Given the description of an element on the screen output the (x, y) to click on. 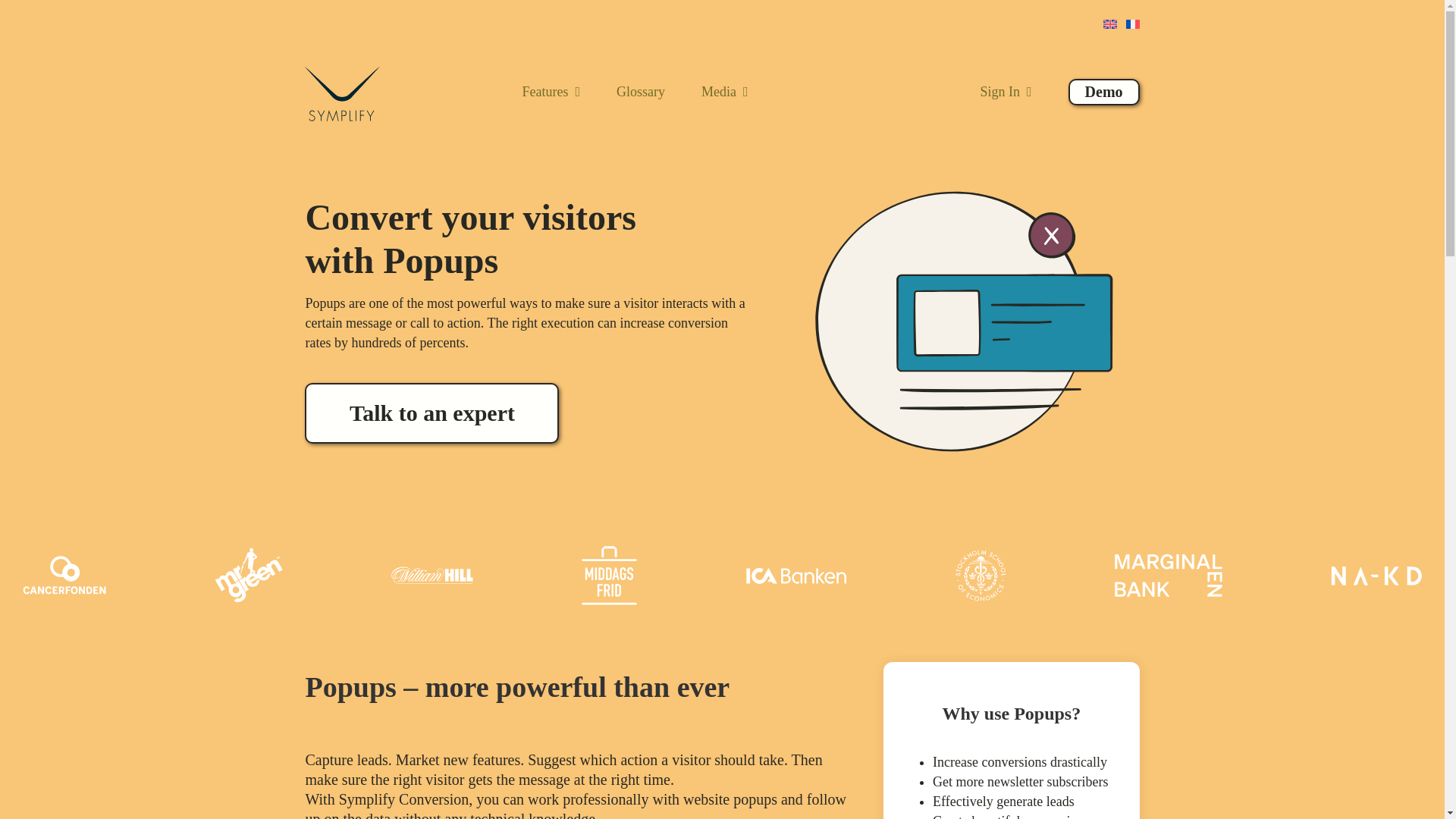
Talk to an expert (431, 413)
Web push (961, 321)
Demo (1104, 91)
